Given the description of an element on the screen output the (x, y) to click on. 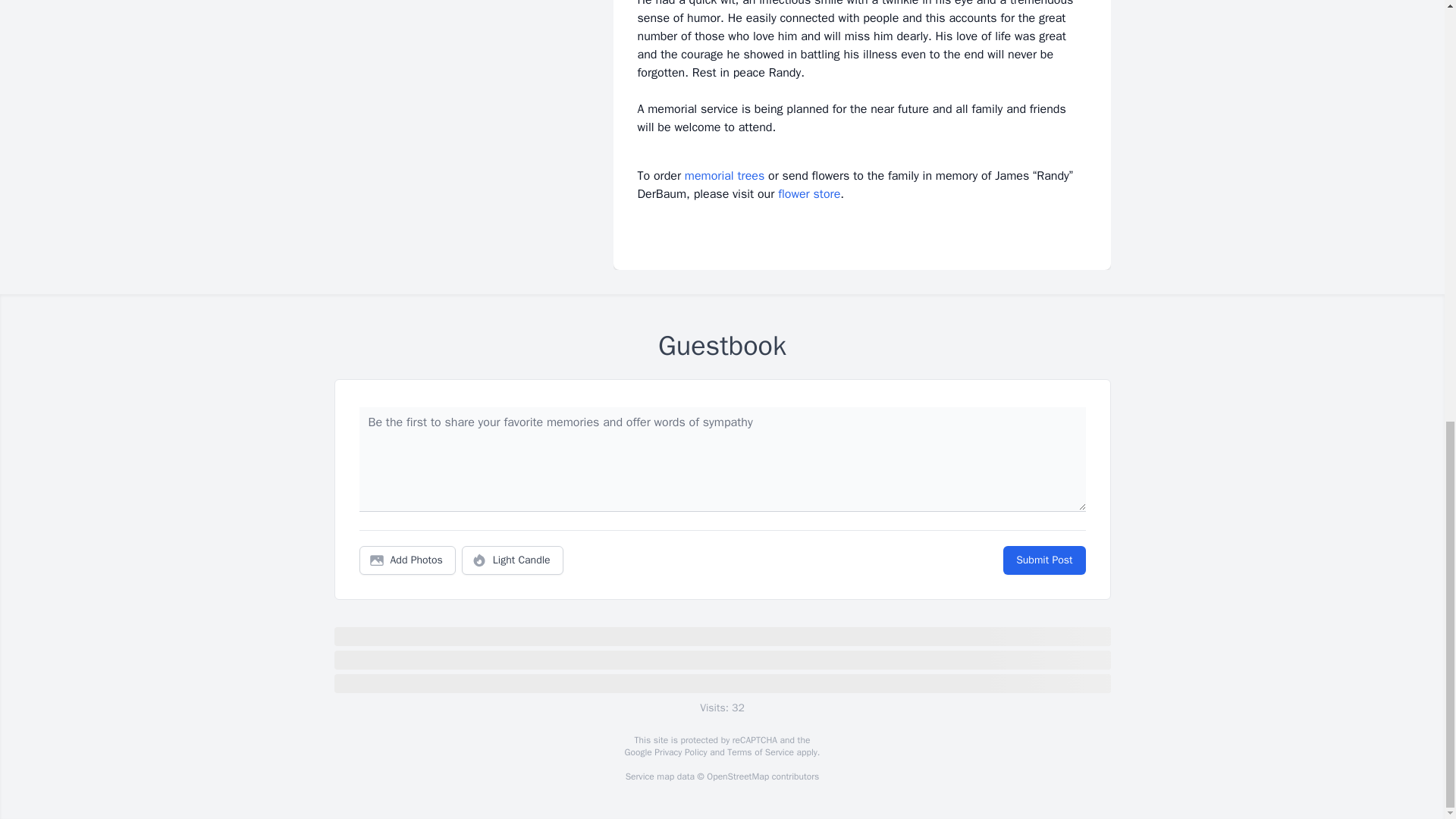
flower store (808, 193)
Submit Post (1043, 560)
OpenStreetMap (737, 776)
memorial trees (724, 175)
Terms of Service (759, 752)
Privacy Policy (679, 752)
Add Photos (407, 560)
Light Candle (512, 560)
